Given the description of an element on the screen output the (x, y) to click on. 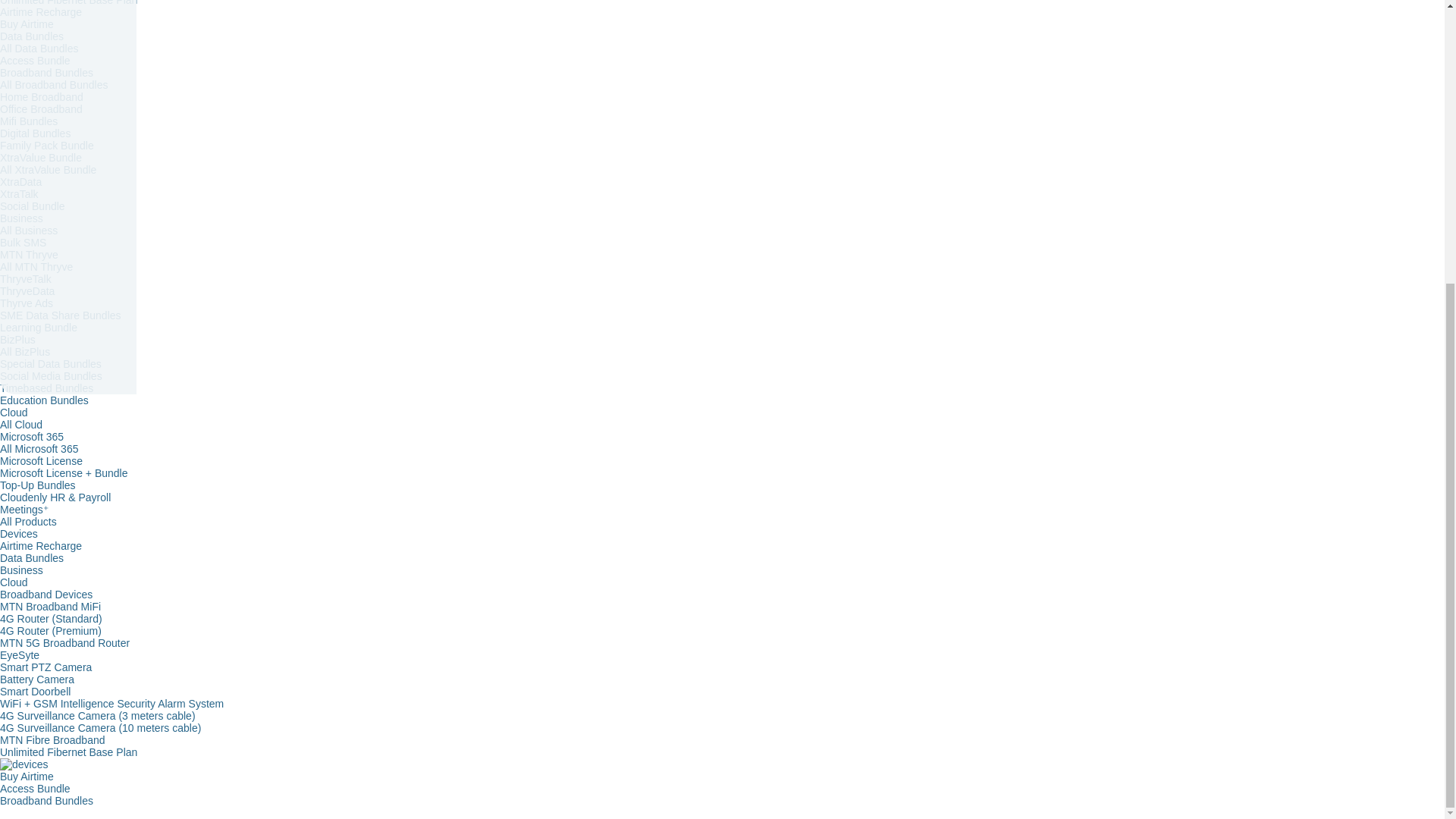
Buy Airtime (26, 24)
Broadband Bundles (46, 72)
All Broadband Bundles (53, 84)
Airtime Recharge (40, 11)
Access Bundle (34, 60)
Data Bundles (32, 36)
All Data Bundles (39, 48)
Unlimited Fibernet Base Plan (68, 2)
